Given the description of an element on the screen output the (x, y) to click on. 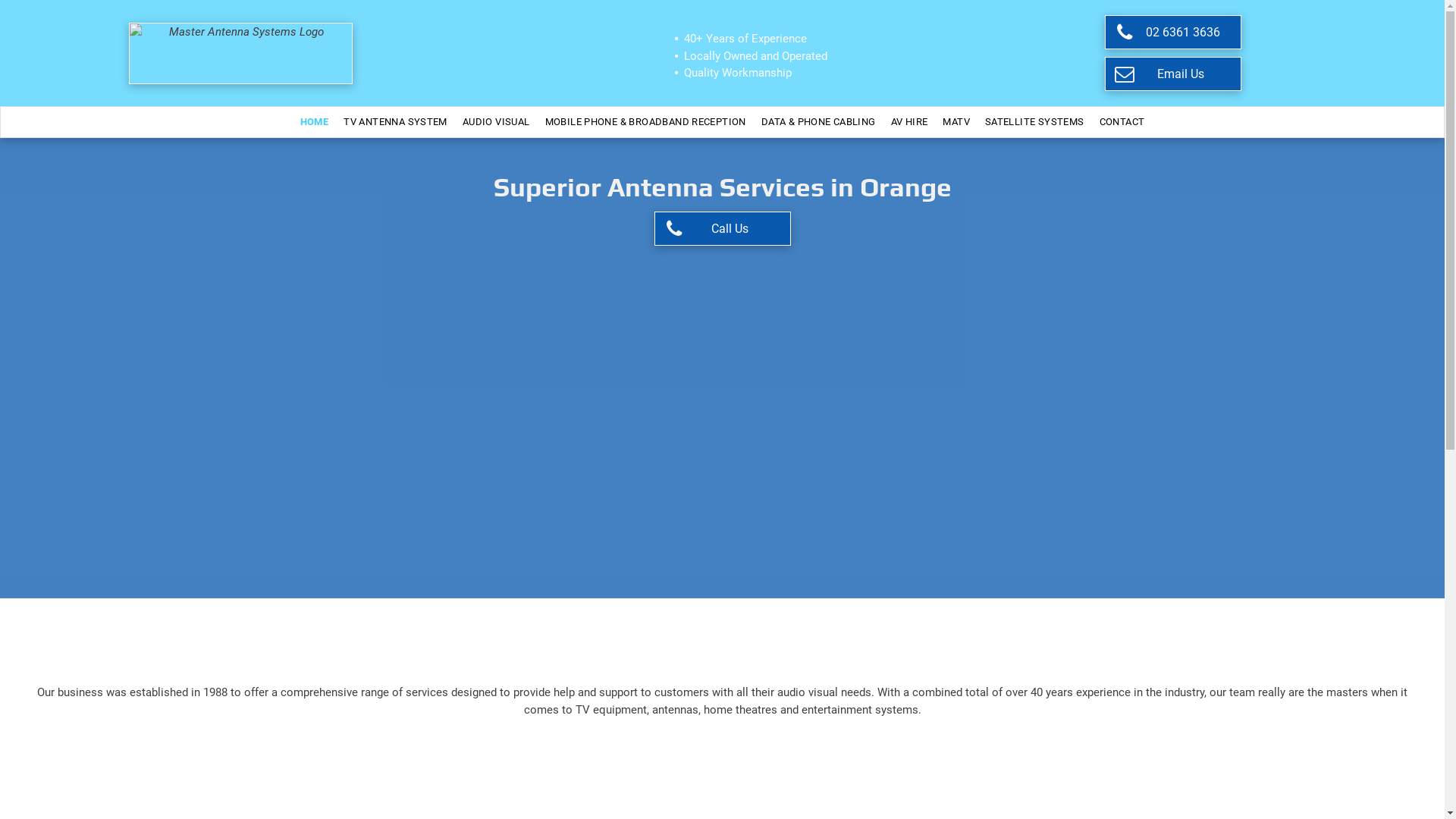
AUDIO VISUAL Element type: text (496, 121)
MOBILE PHONE & BROADBAND RECEPTION Element type: text (645, 121)
SATELLITE SYSTEMS Element type: text (1034, 121)
TV ANTENNA SYSTEM Element type: text (395, 121)
DATA & PHONE CABLING Element type: text (818, 121)
HOME Element type: text (314, 121)
Email Us Element type: text (1172, 73)
02 6361 3636 Element type: text (1172, 32)
MATV Element type: text (956, 121)
AV HIRE Element type: text (909, 121)
CONTACT Element type: text (1122, 121)
Call Us Element type: text (721, 228)
